Given the description of an element on the screen output the (x, y) to click on. 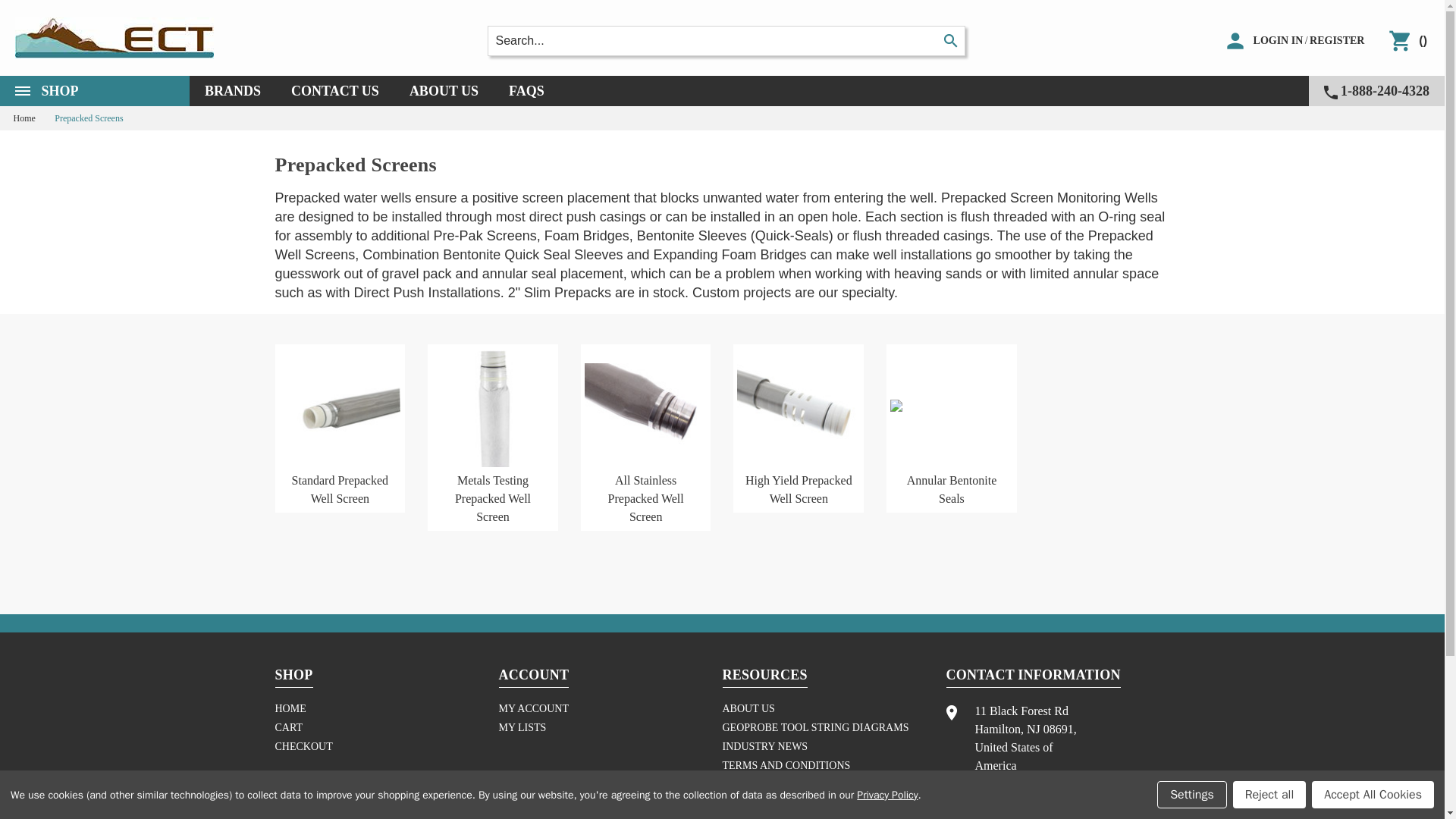
LOGIN IN (94, 91)
ECT Manufacturing (1277, 40)
REGISTER (114, 37)
